Given the description of an element on the screen output the (x, y) to click on. 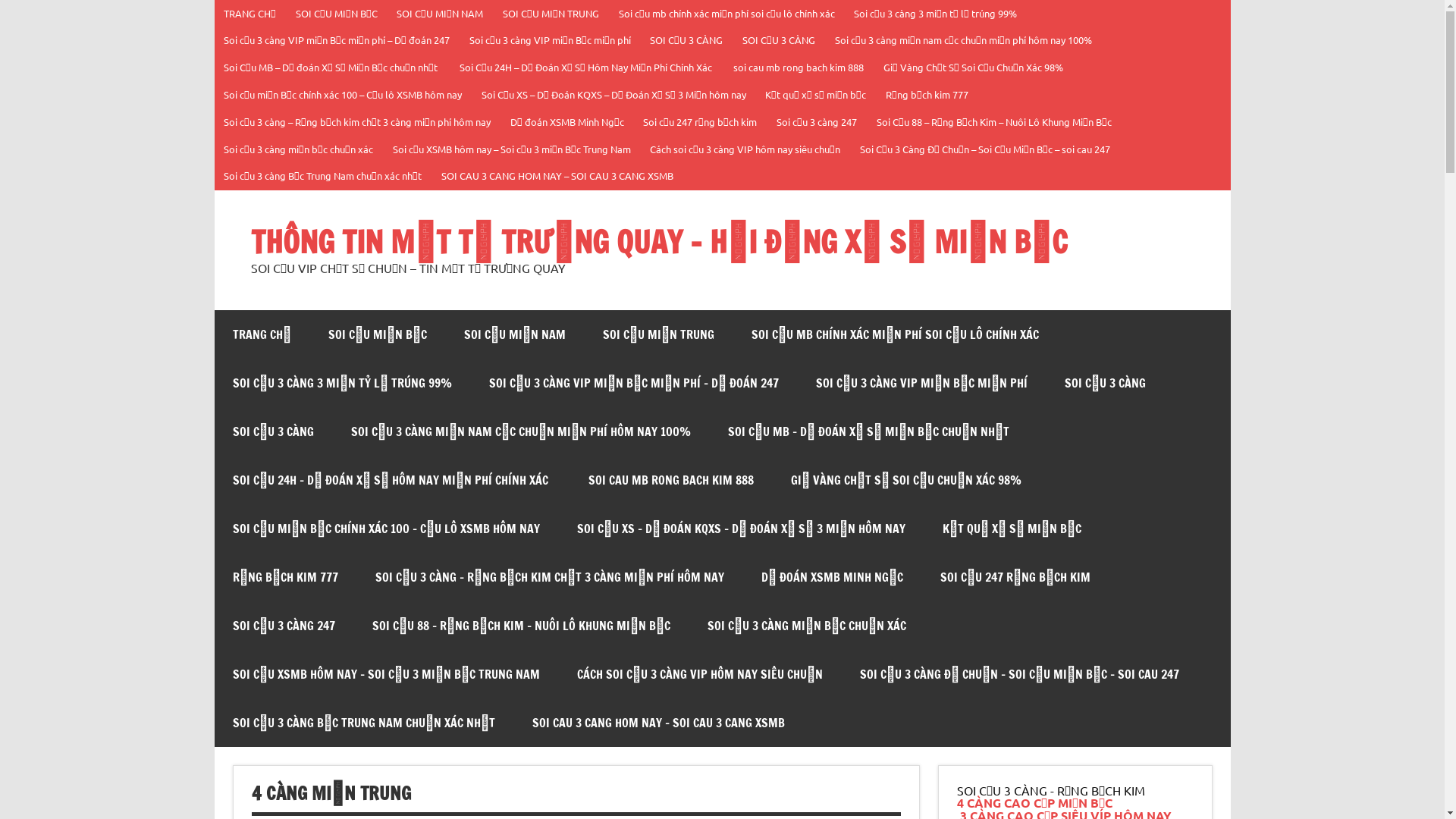
SOI CAU MB RONG BACH KIM 888 Element type: text (670, 479)
soi cau mb rong bach kim 888 Element type: text (799, 67)
